Given the description of an element on the screen output the (x, y) to click on. 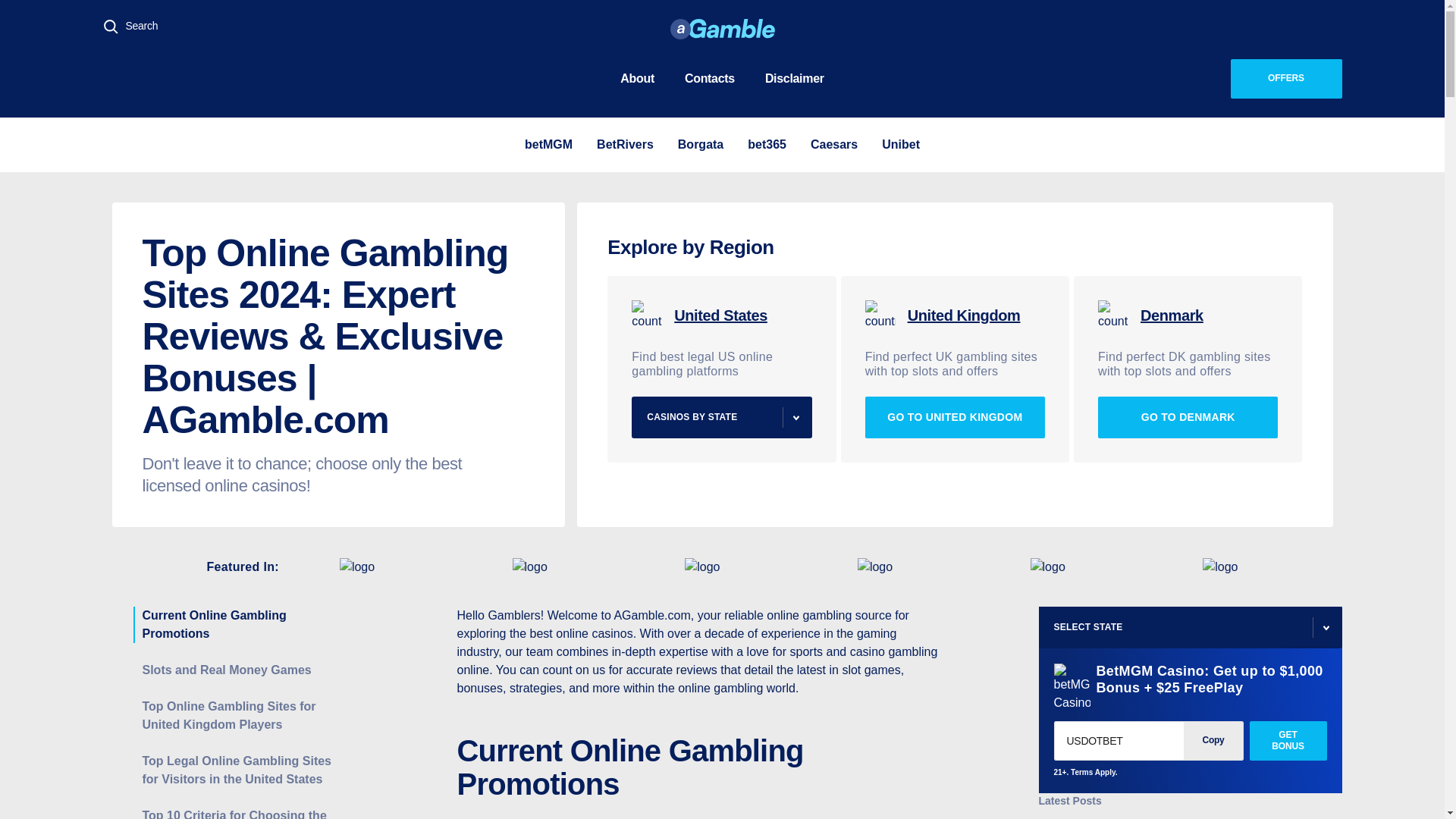
Caesars (833, 144)
BetRivers (624, 144)
About (637, 78)
United States (720, 315)
Contacts (709, 78)
Disclaimer (794, 78)
bet365 (767, 144)
Unibet (901, 144)
betMGM (548, 144)
Borgata (700, 144)
OFFERS (1285, 78)
